Given the description of an element on the screen output the (x, y) to click on. 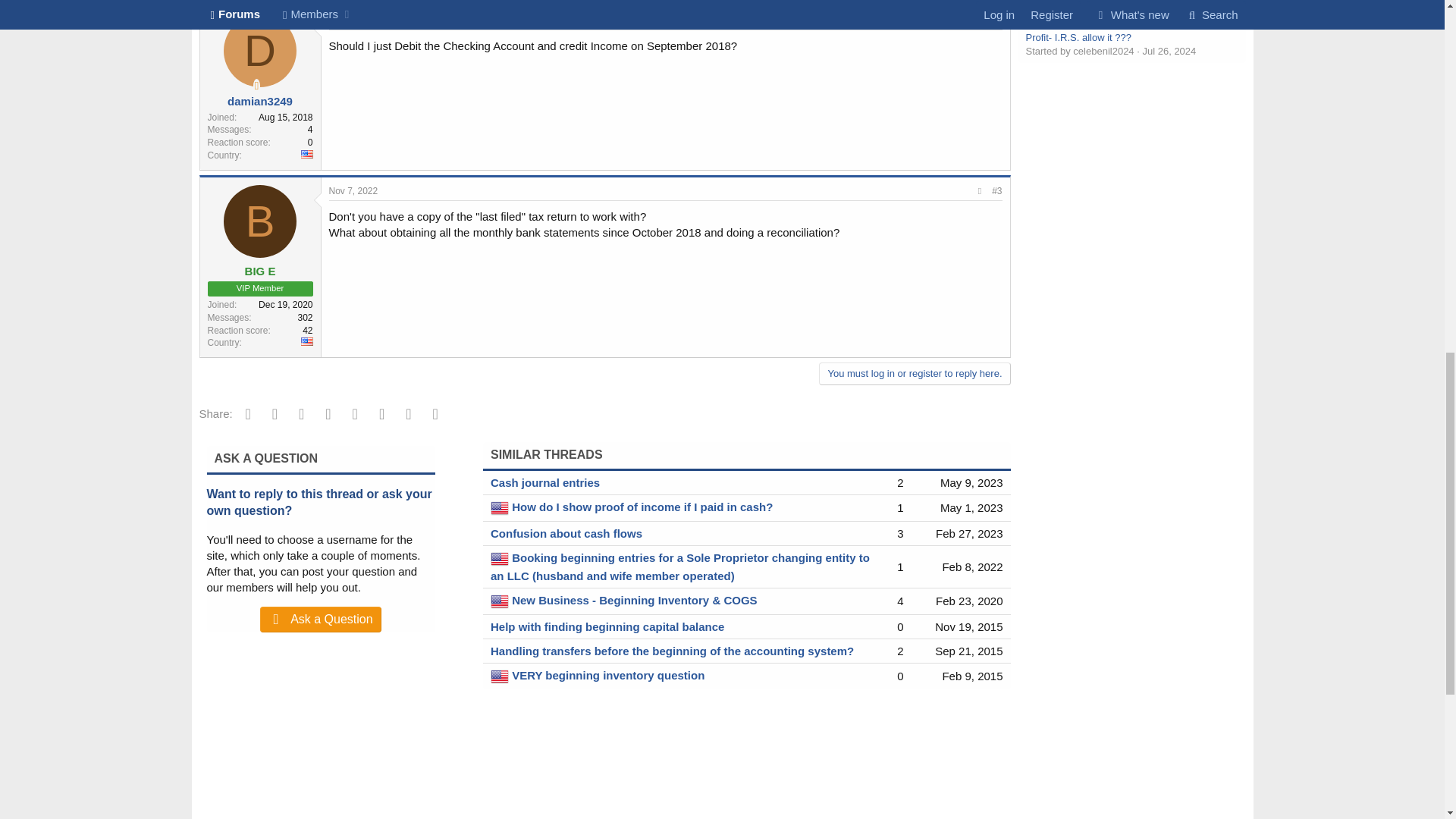
May 1, 2023 at 12:04 PM (971, 507)
Nov 7, 2022 (353, 20)
Feb 27, 2023 at 10:02 AM (969, 533)
Feb 23, 2020 at 5:16 PM (969, 600)
D (260, 50)
Feb 9, 2015 at 7:37 PM (972, 675)
United States (306, 341)
United States (306, 153)
B (260, 221)
damian3249 (259, 101)
